Given the description of an element on the screen output the (x, y) to click on. 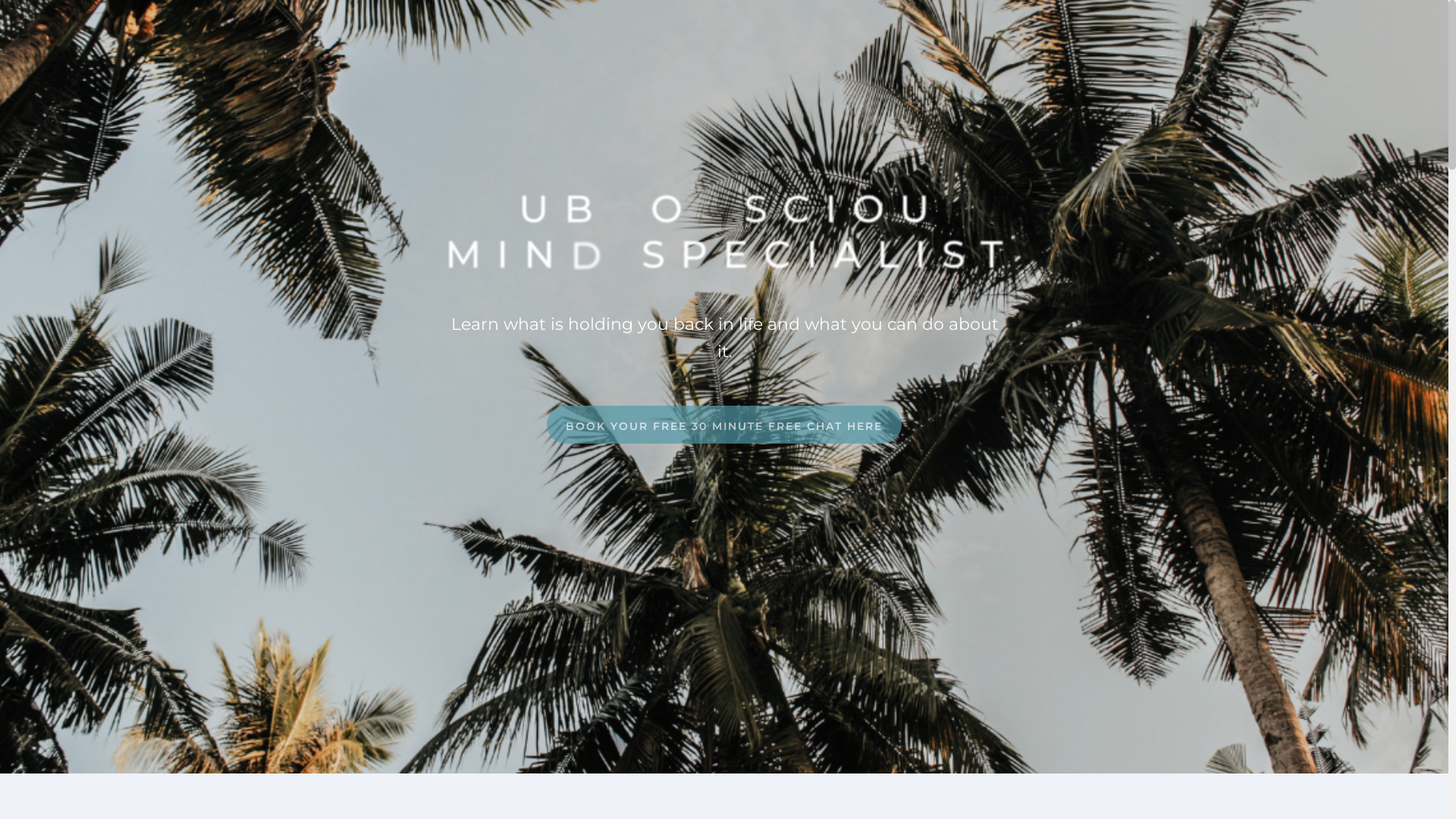
BOOK YOUR FREE 30 MINUTE FREE CHAT HERE Element type: text (723, 424)
